Given the description of an element on the screen output the (x, y) to click on. 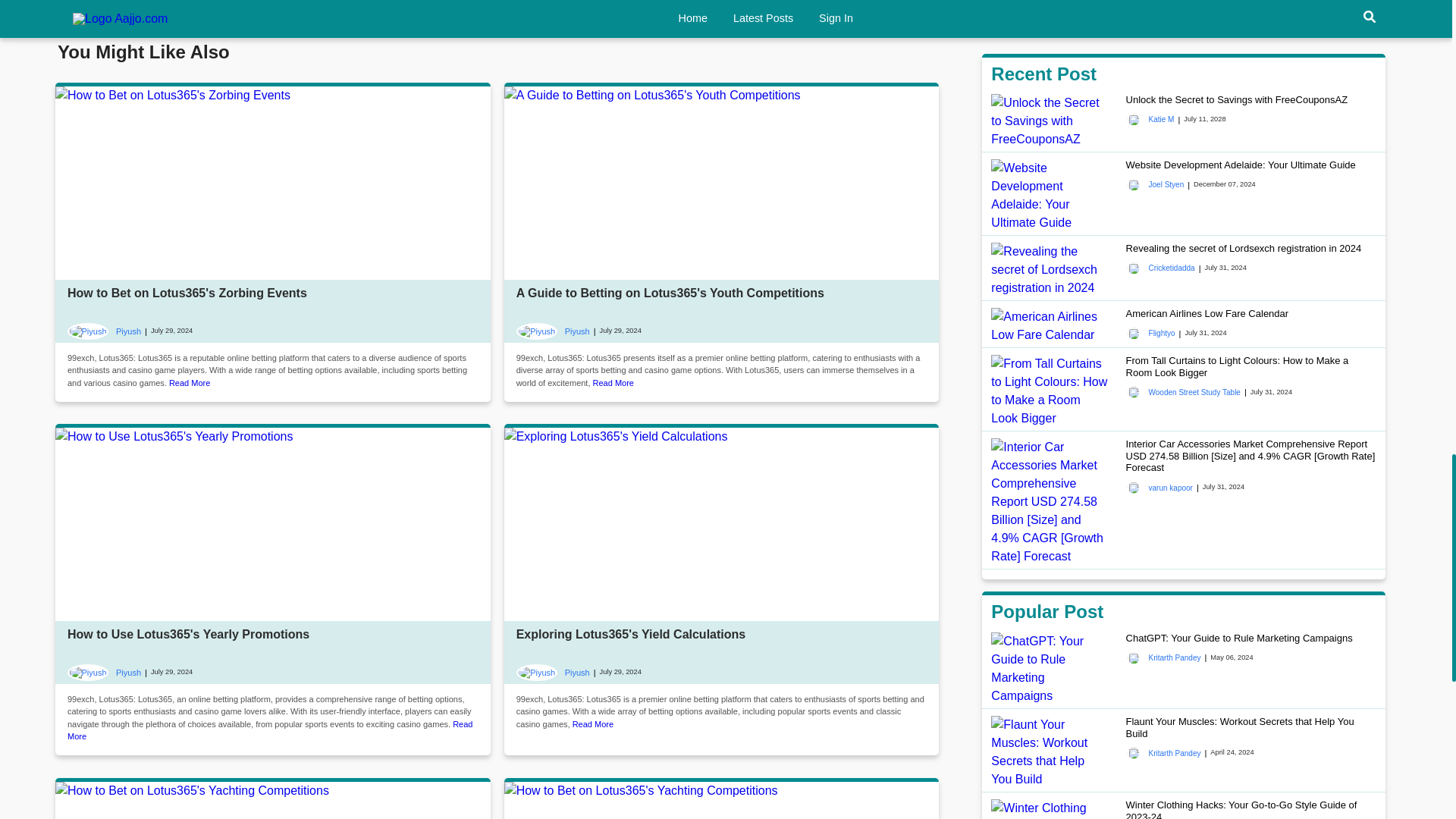
Piyush (103, 672)
Exploring Lotus365's Yield Calculations (630, 634)
Piyush (552, 330)
Piyush (552, 672)
Piyush (103, 330)
Read More (612, 382)
How to Use Lotus365's Yearly Promotions (187, 634)
Read More (592, 723)
A Guide to Betting on Lotus365's Youth Competitions (670, 292)
How to Bet on Lotus365's Zorbing Events (186, 292)
Read More (188, 382)
Read More (268, 730)
